Given the description of an element on the screen output the (x, y) to click on. 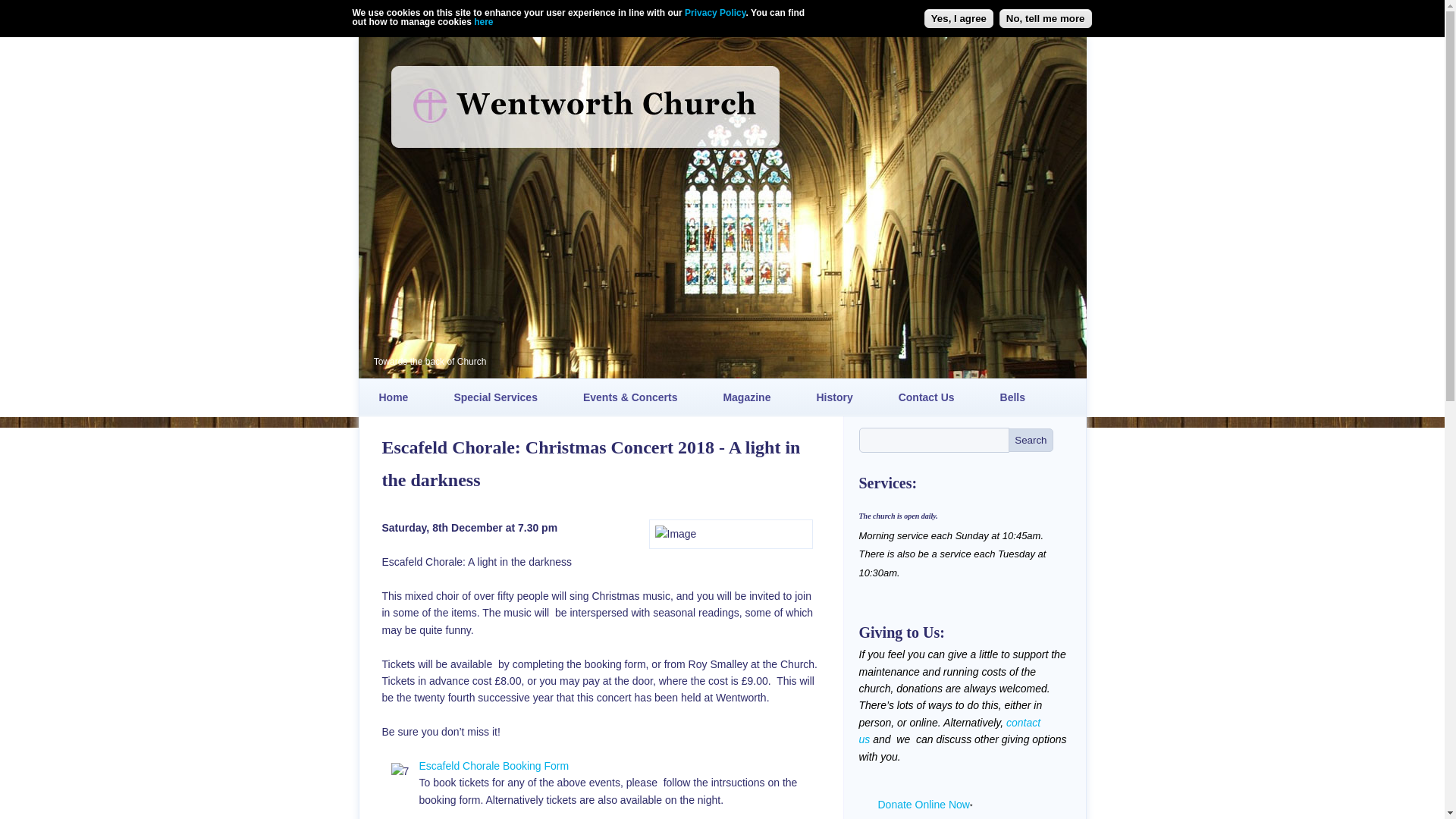
Yes, I agree (958, 18)
History (834, 397)
Privacy Policy (714, 12)
Search (1030, 440)
Escafeld Chorale Booking Form (494, 766)
Contact Us (926, 397)
No, tell me more (1045, 18)
Services - Baptisms, Weddings, Funerals (495, 397)
Magazine (746, 397)
Special Services (495, 397)
Enter the terms you wish to search for. (934, 439)
Donate Online Now (923, 804)
Booking Form (399, 772)
Home (393, 397)
Bells (1012, 397)
